Given the description of an element on the screen output the (x, y) to click on. 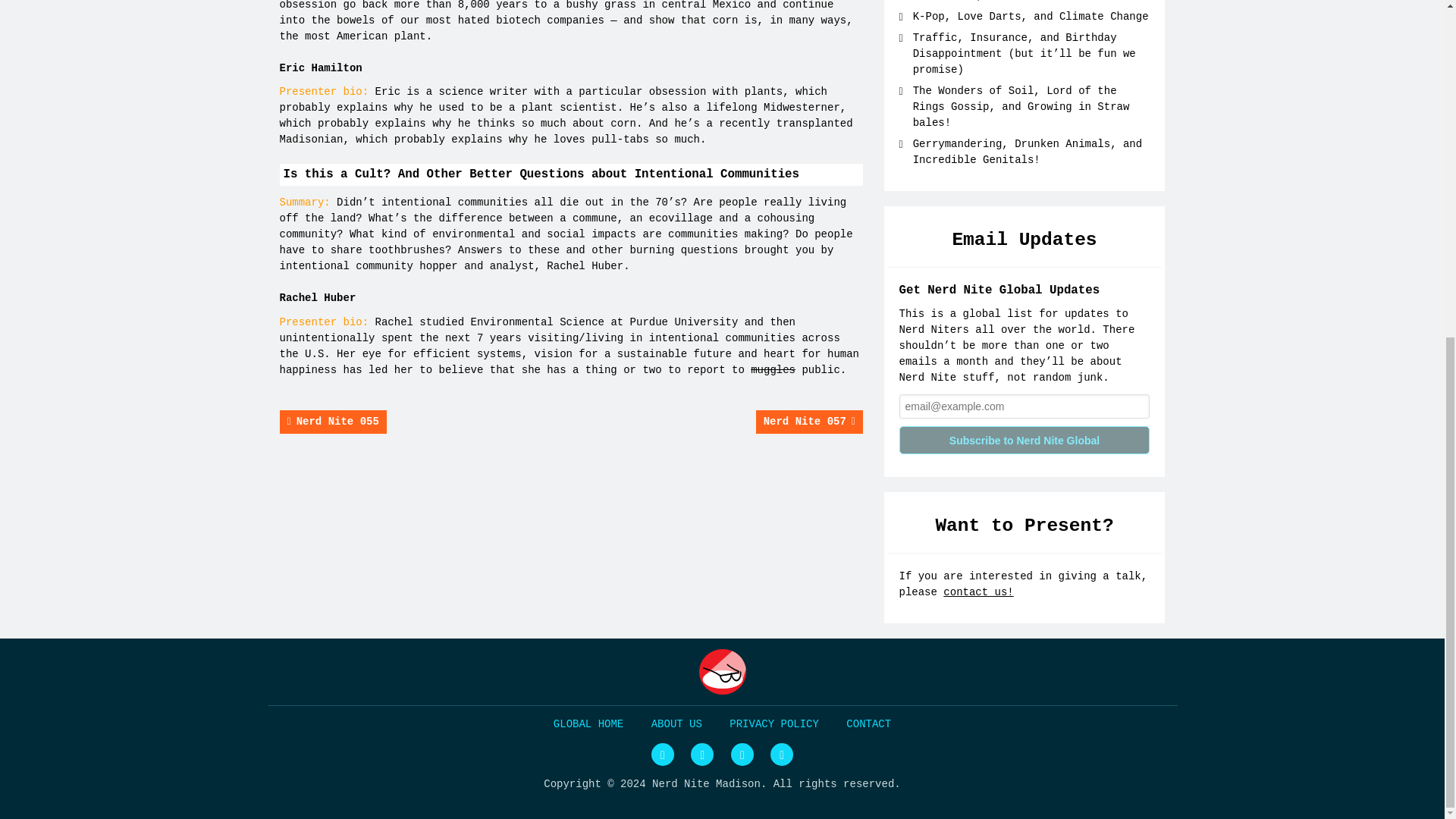
Nerd Nite Global on Twitter (662, 753)
Nerd Nite 055 (332, 422)
Gerrymandering, Drunken Animals, and Incredible Genitals! (1026, 152)
Nerd Nite 057 (809, 422)
Subscribe to Nerd Nite Global (1024, 439)
K-Pop, Love Darts, and Climate Change (1030, 16)
HOME (588, 724)
PRIVACY POLICY (774, 724)
CONTACT (868, 724)
ABOUT US (676, 724)
contact us! (978, 592)
